Given the description of an element on the screen output the (x, y) to click on. 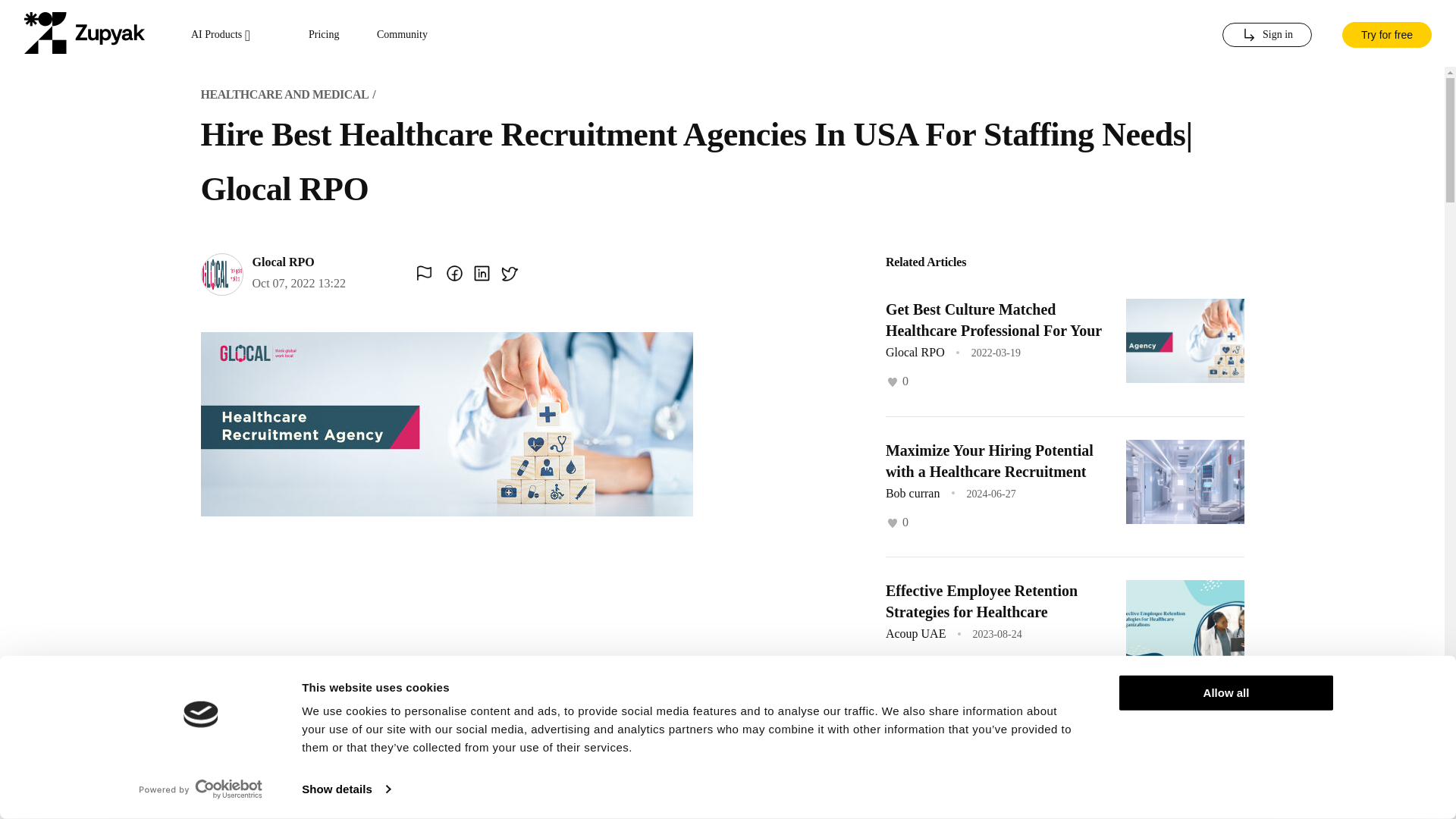
Show details (345, 789)
Healthcare Recruitment Agencies (993, 731)
